Given the description of an element on the screen output the (x, y) to click on. 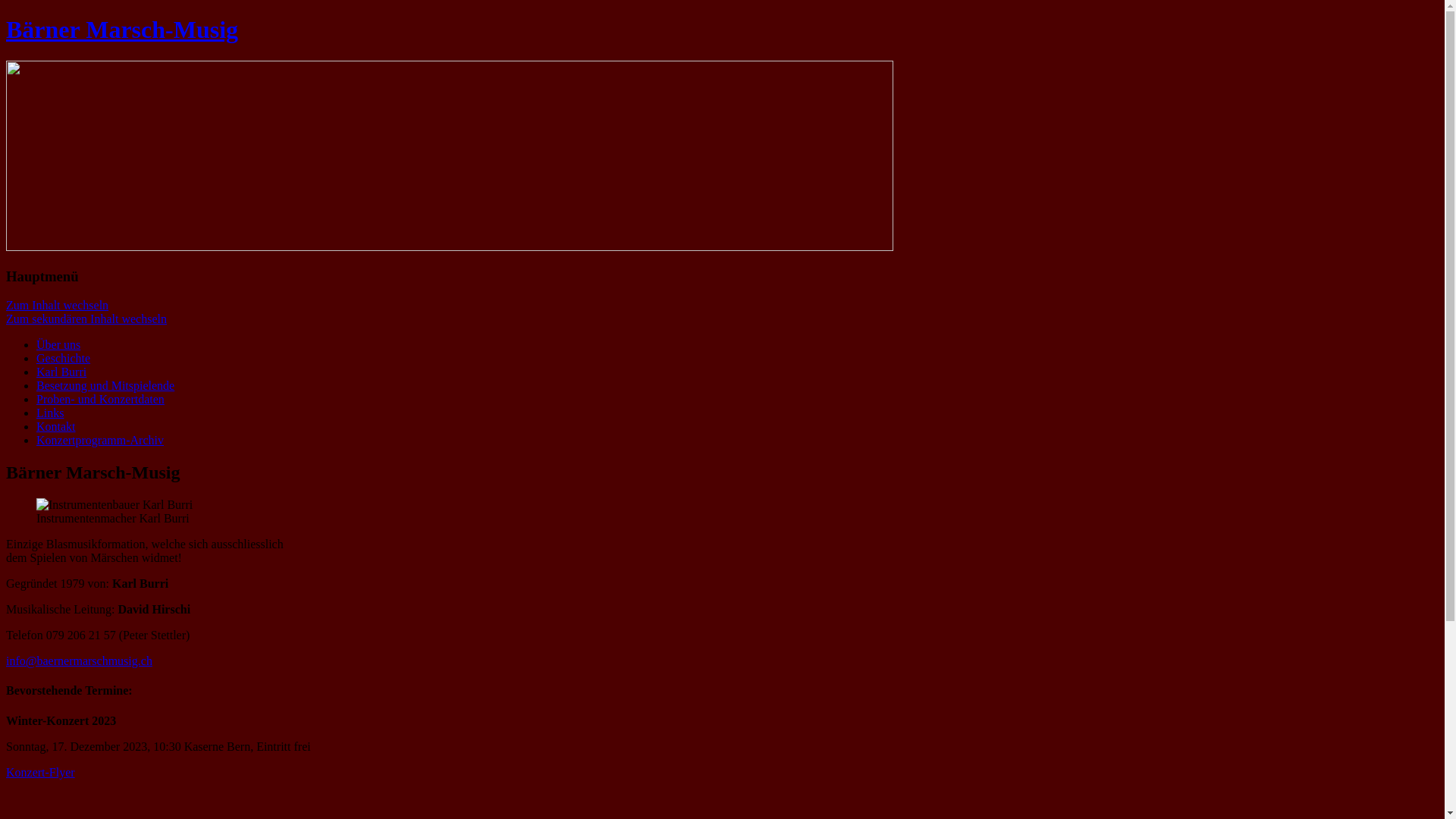
info@baernermarschmusig.ch Element type: text (79, 660)
Karl Burri Element type: text (61, 371)
Links Element type: text (49, 412)
Kontakt Element type: text (55, 426)
Besetzung und Mitspielende Element type: text (105, 385)
Proben- und Konzertdaten Element type: text (100, 398)
Geschichte Element type: text (63, 357)
Konzert-Flyer Element type: text (40, 771)
Zum Inhalt wechseln Element type: text (57, 304)
Konzertprogramm-Archiv Element type: text (99, 439)
